Given the description of an element on the screen output the (x, y) to click on. 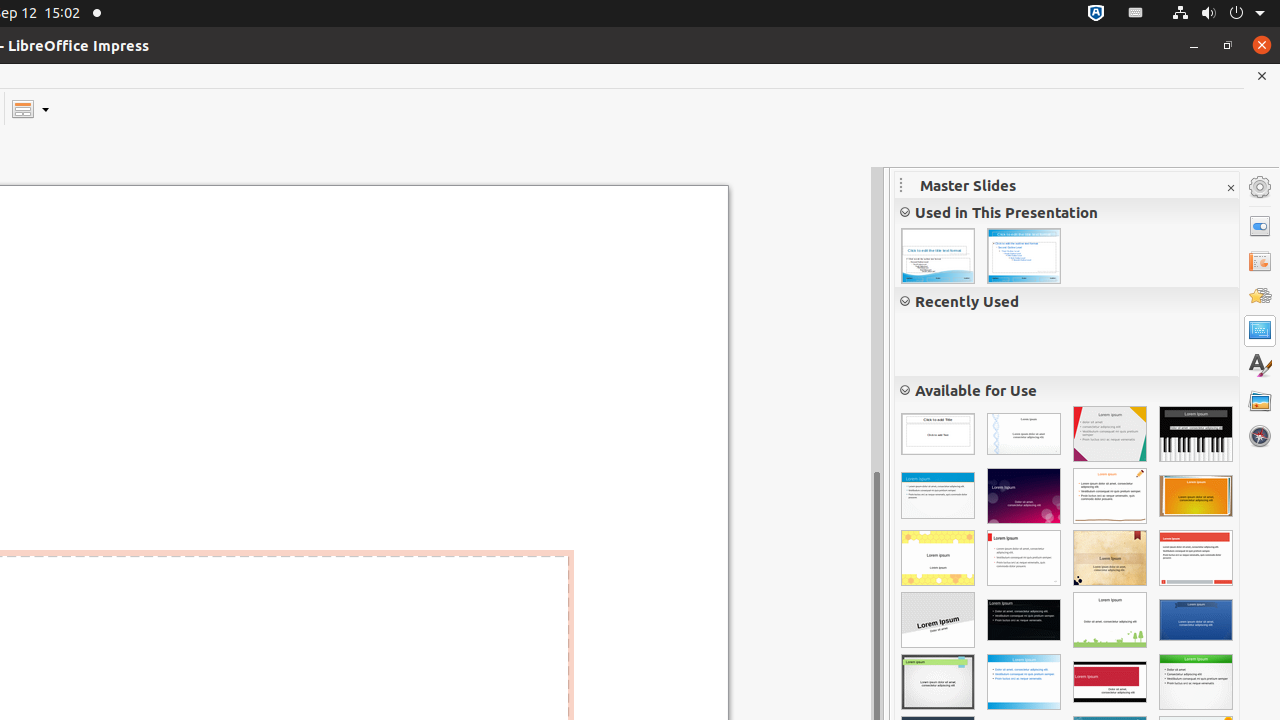
Forestbird Element type: list-item (1110, 620)
Default Element type: list-item (938, 434)
Gallery Element type: radio-button (1260, 401)
Alizarin Element type: list-item (1196, 558)
Blue_Curve Element type: list-item (938, 256)
